Given the description of an element on the screen output the (x, y) to click on. 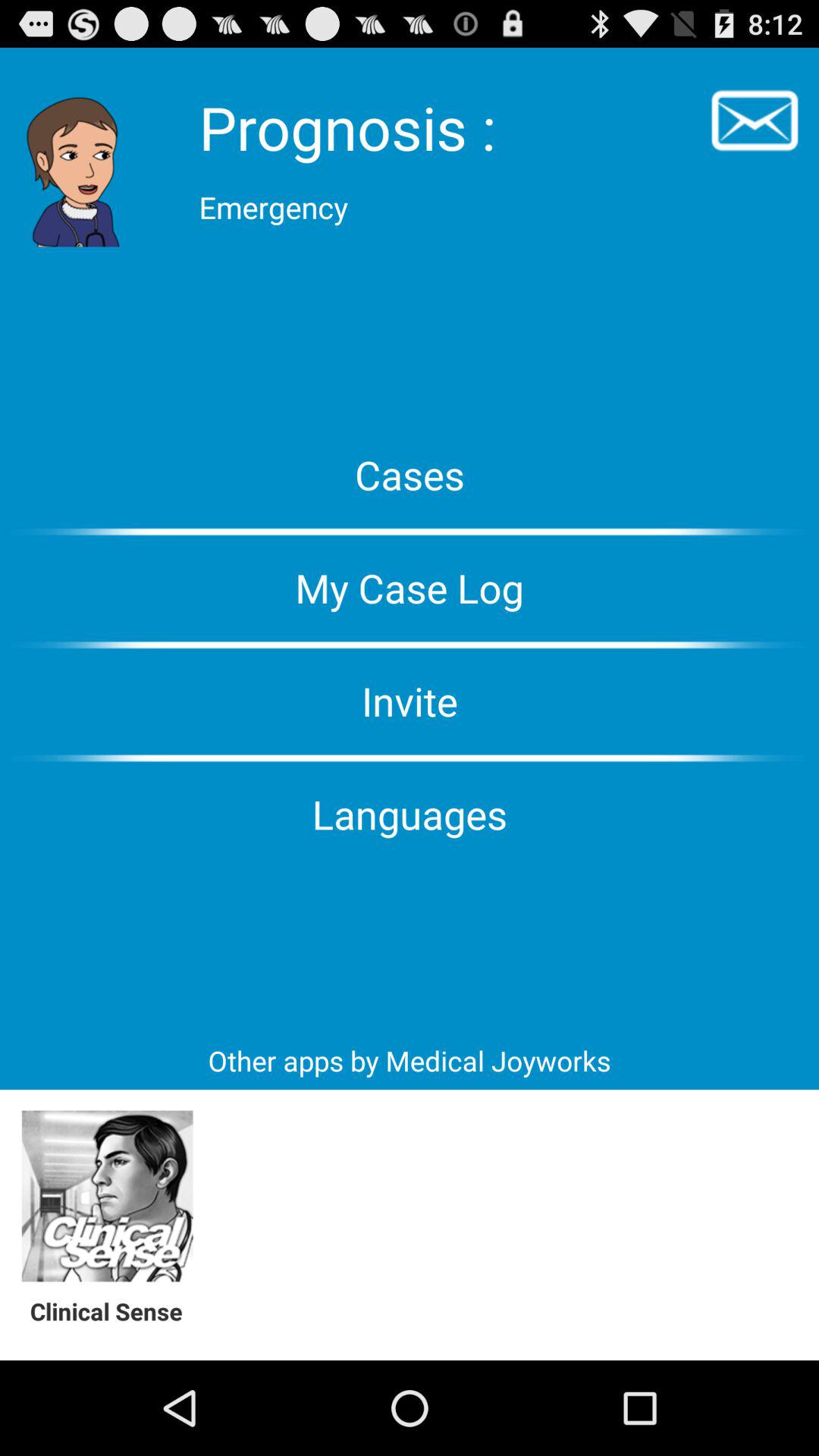
turn off the languages (409, 813)
